Given the description of an element on the screen output the (x, y) to click on. 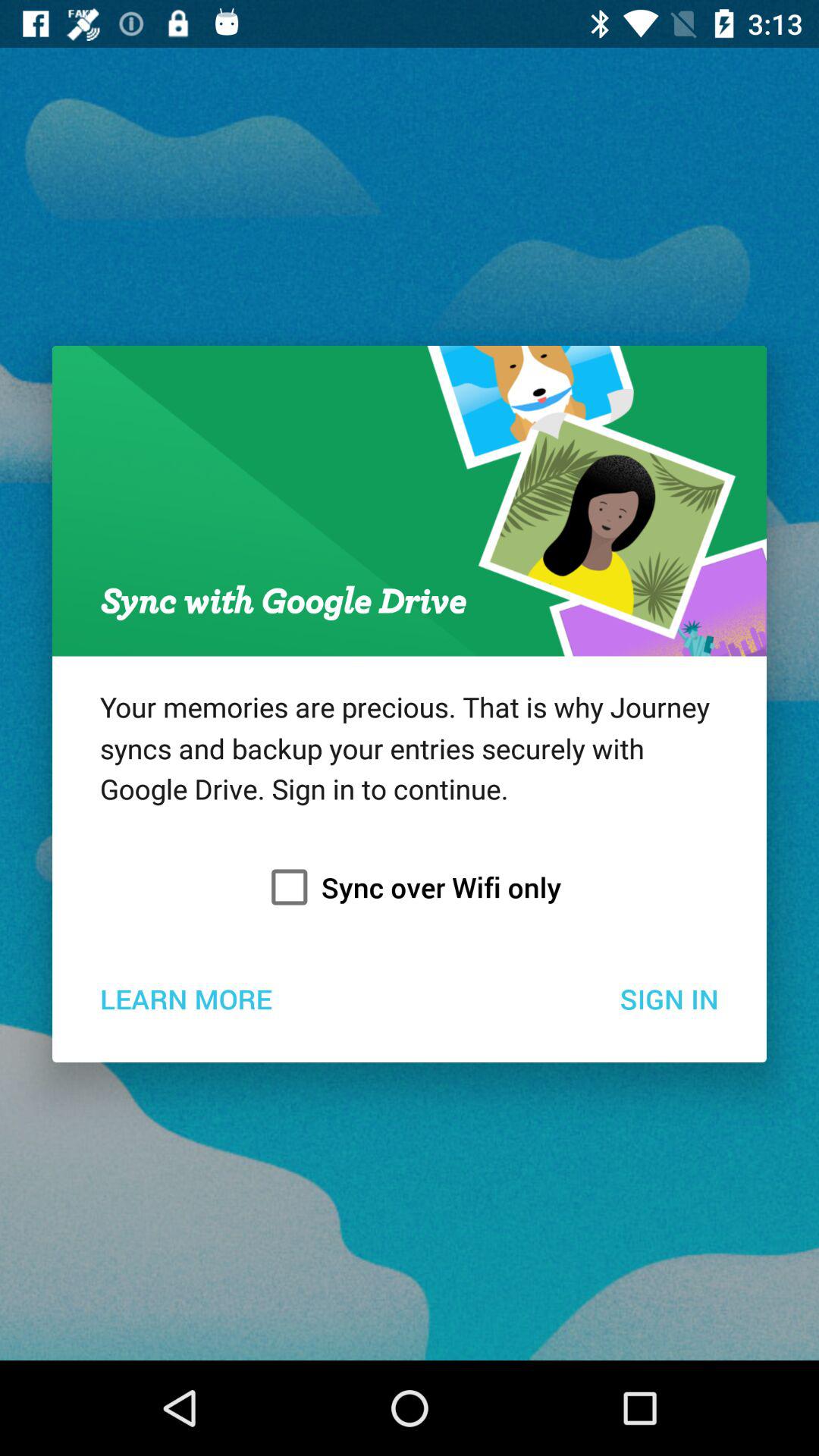
click item below sync over wifi item (185, 998)
